Given the description of an element on the screen output the (x, y) to click on. 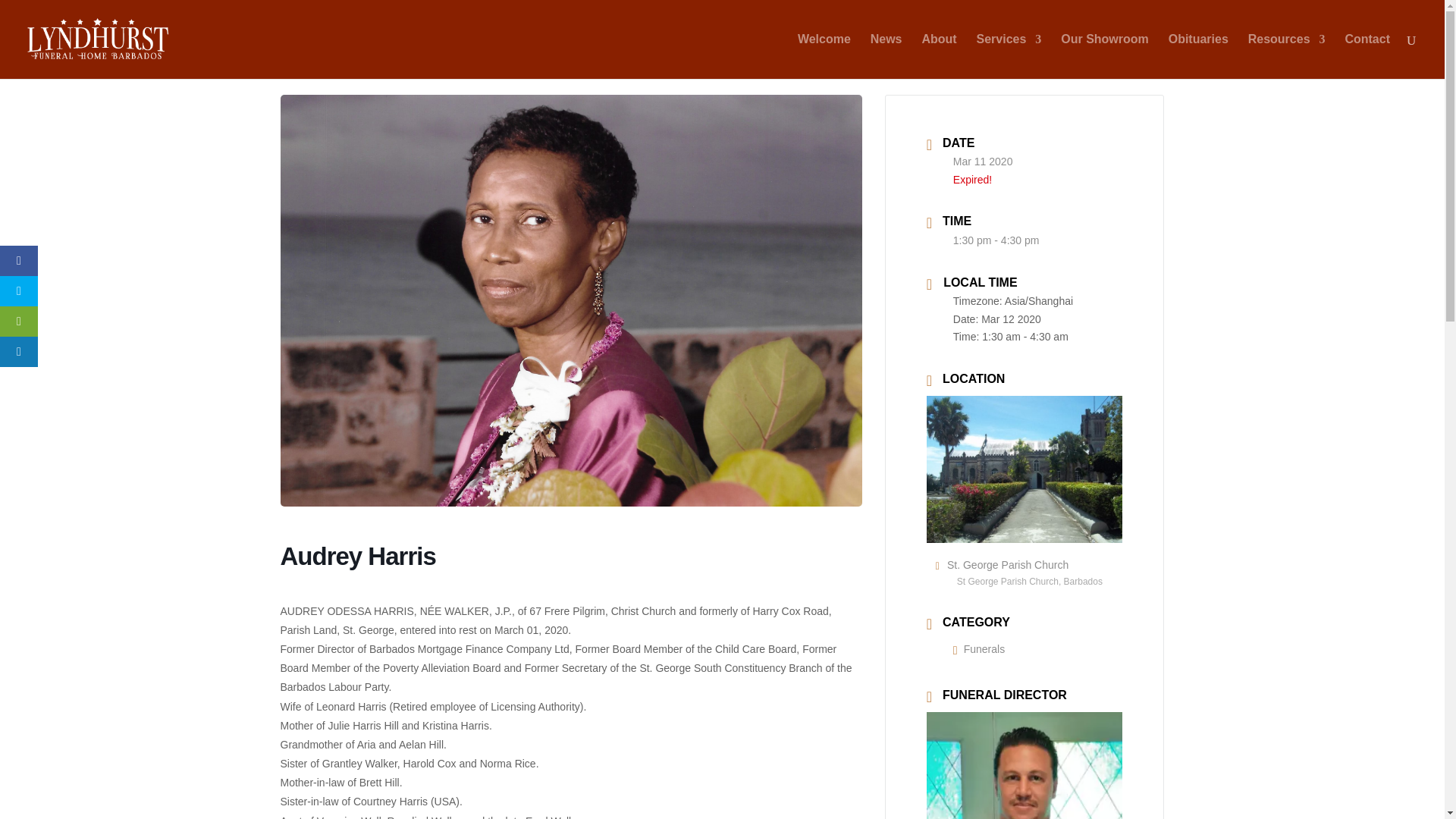
Resources (1285, 56)
Funerals (978, 648)
Services (1009, 56)
Contact (1366, 56)
Our Showroom (1104, 56)
Obituaries (1198, 56)
Welcome (823, 56)
